Given the description of an element on the screen output the (x, y) to click on. 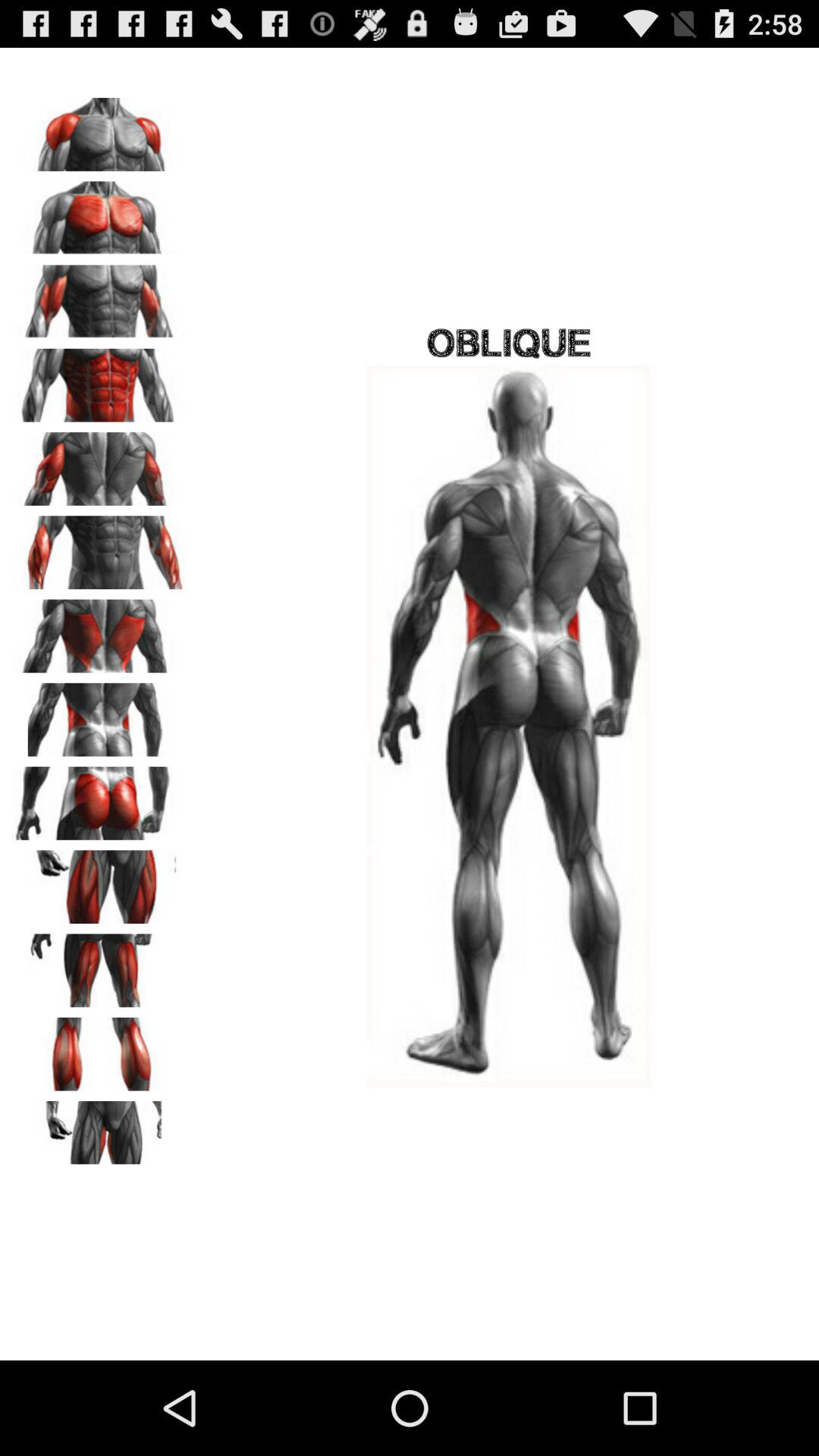
gluteus maximus (99, 798)
